Given the description of an element on the screen output the (x, y) to click on. 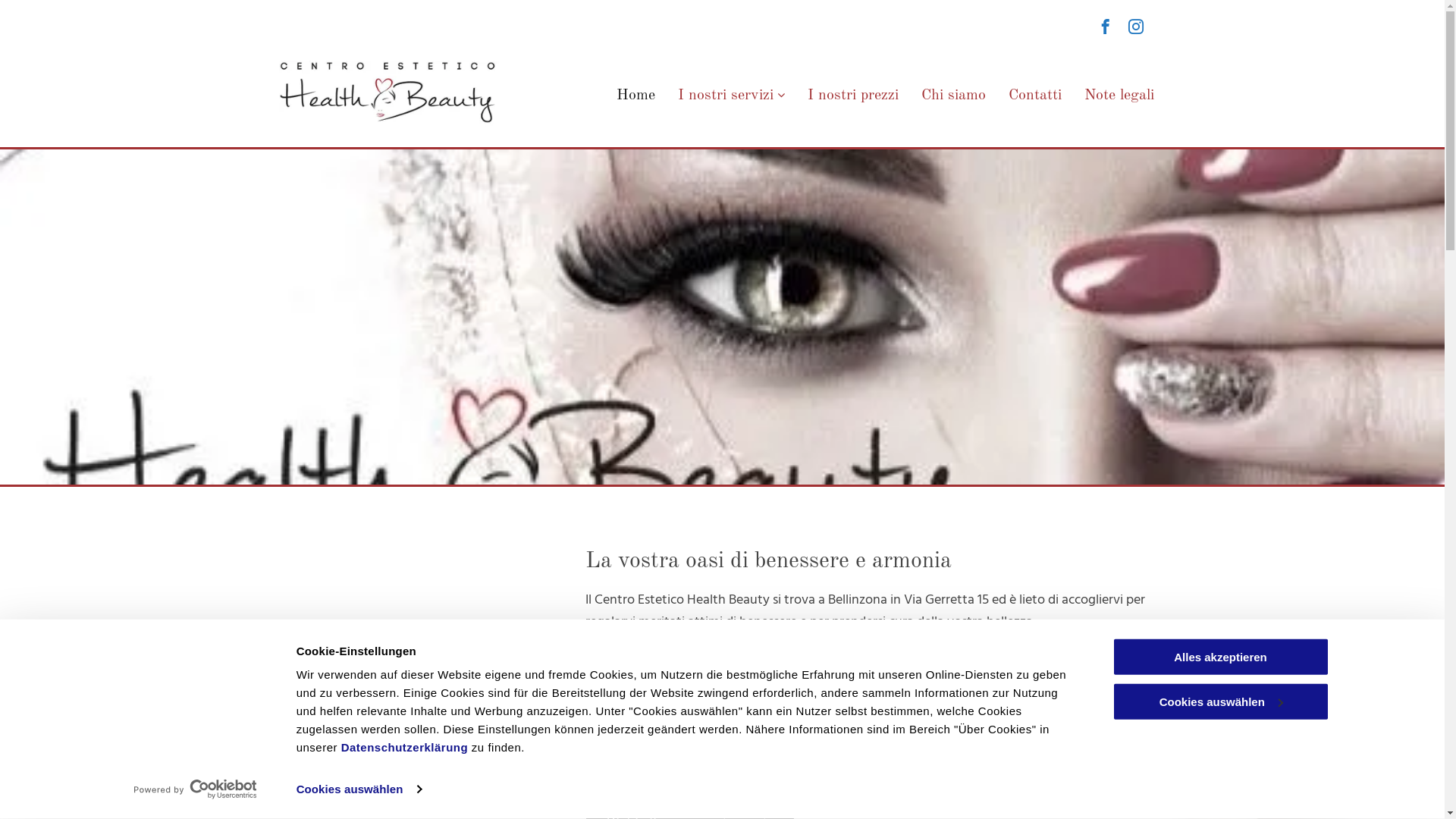
Chi siamo Element type: text (953, 95)
Contatti Element type: text (1034, 95)
Alles akzeptieren Element type: text (1219, 656)
I nostri servizi Element type: text (730, 95)
Note legali Element type: text (1119, 95)
Home Element type: text (635, 95)
I nostri prezzi Element type: text (852, 95)
